Given the description of an element on the screen output the (x, y) to click on. 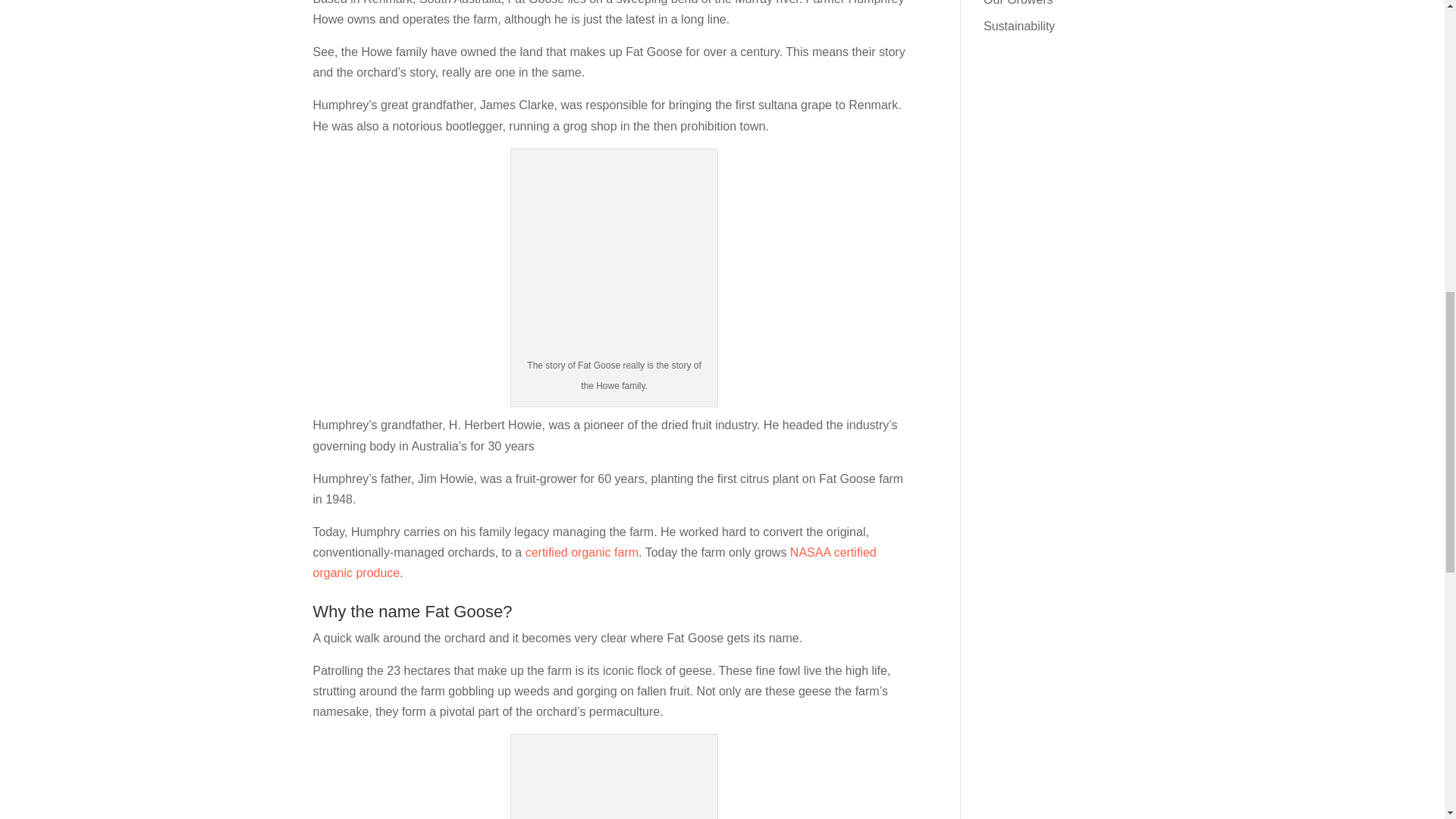
NASAA certified organic produce (594, 562)
Sustainability (1019, 25)
Our Growers (1018, 2)
certified organic farm (582, 552)
